Given the description of an element on the screen output the (x, y) to click on. 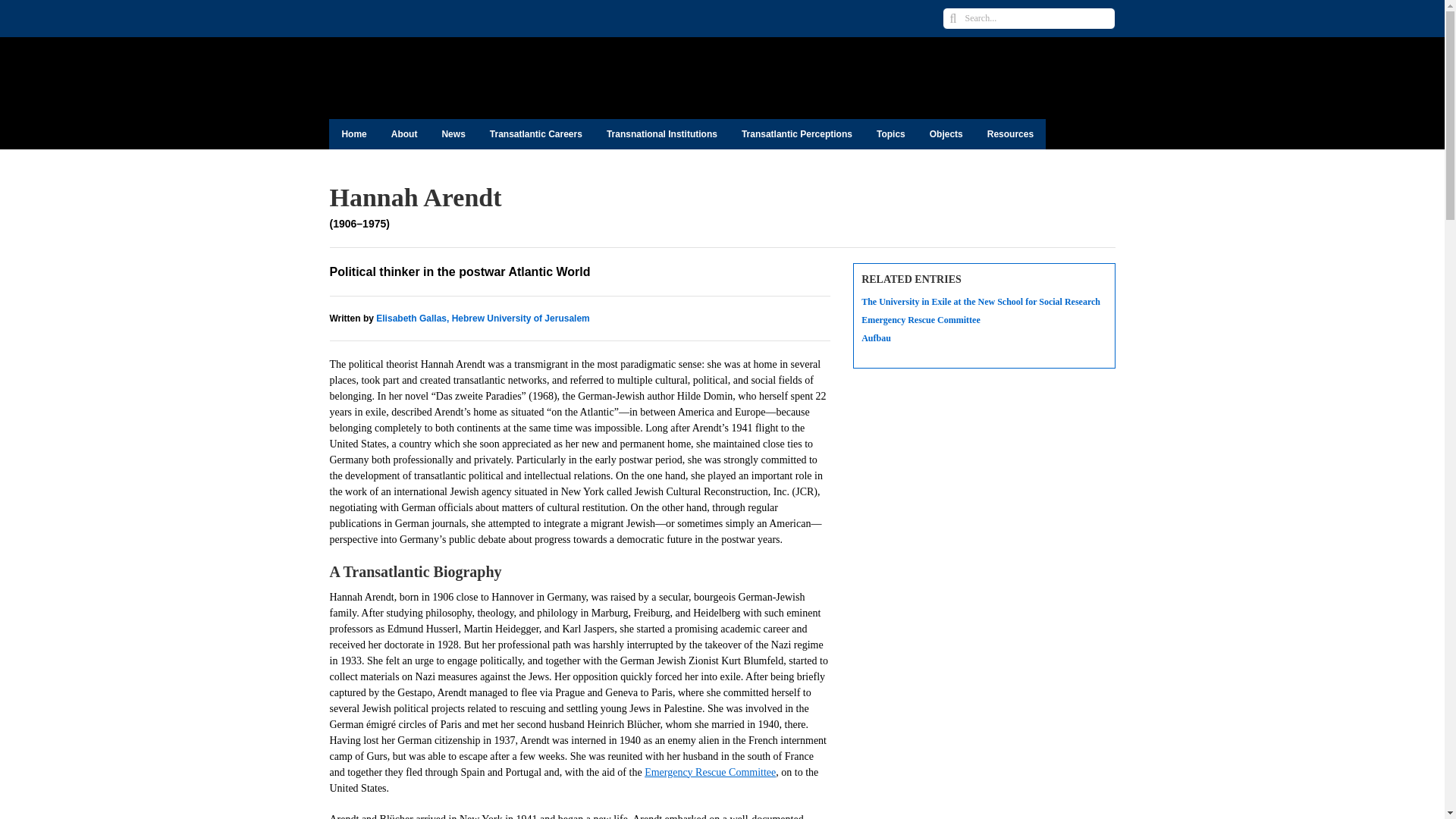
Read the entry. (983, 319)
Objects (946, 133)
Read the entry. (983, 337)
News (453, 133)
Read the entry. (983, 301)
Topics (890, 133)
About (403, 133)
Transatlantic Careers (535, 133)
Home (353, 133)
Transnational Institutions (661, 133)
